Given the description of an element on the screen output the (x, y) to click on. 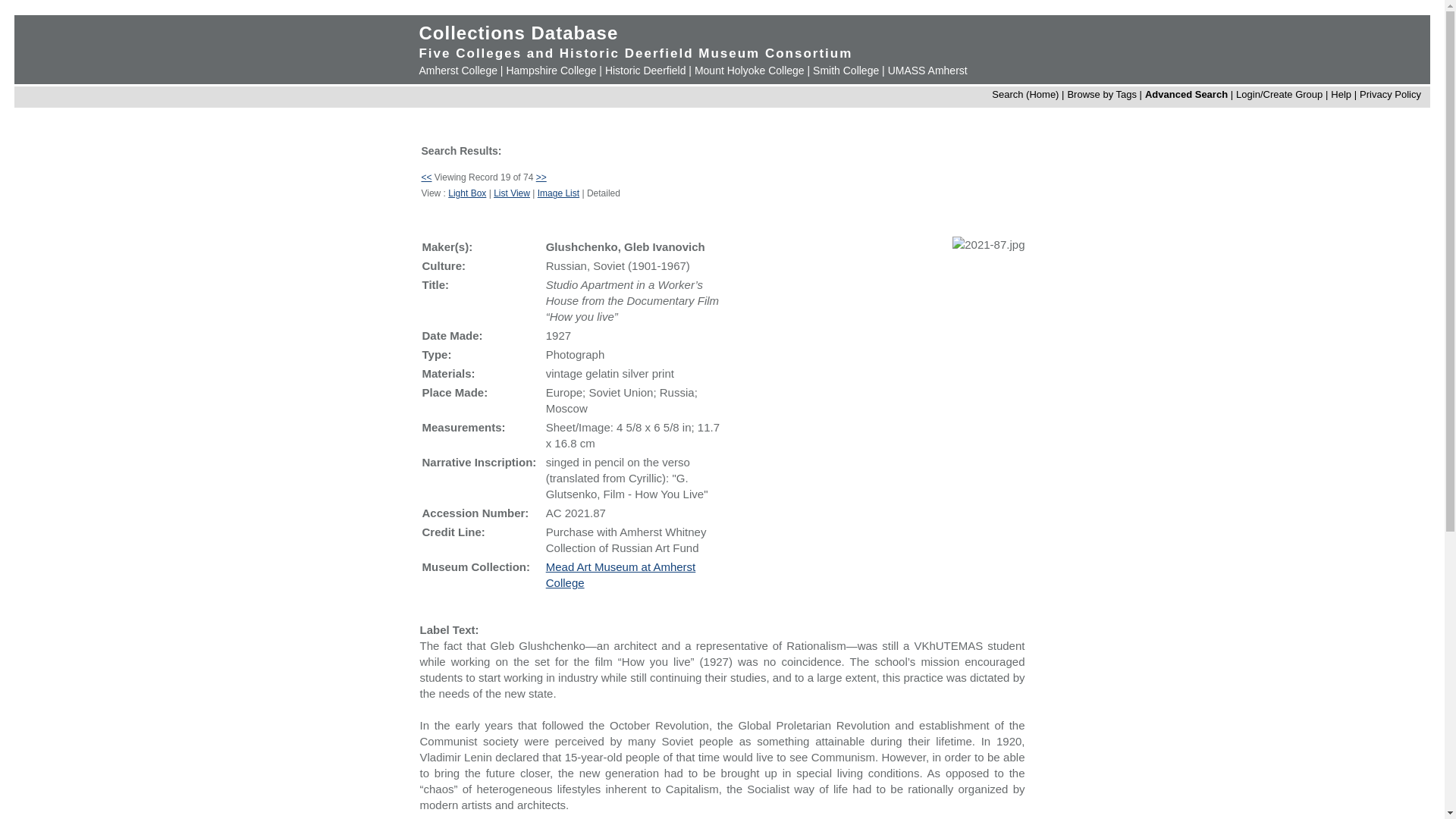
Hampshire College (550, 70)
Mead Art Museum at Amherst College (620, 574)
Help (1340, 93)
Advanced Search (1185, 93)
Smith College (845, 70)
Browse by Tags (1102, 93)
UMASS Amherst (928, 70)
Historic Deerfield (645, 70)
Mount Holyoke College (749, 70)
Light Box (467, 193)
Privacy Policy (1390, 93)
Image List (558, 193)
List View (511, 193)
Amherst College (458, 70)
Collections Database (518, 32)
